Given the description of an element on the screen output the (x, y) to click on. 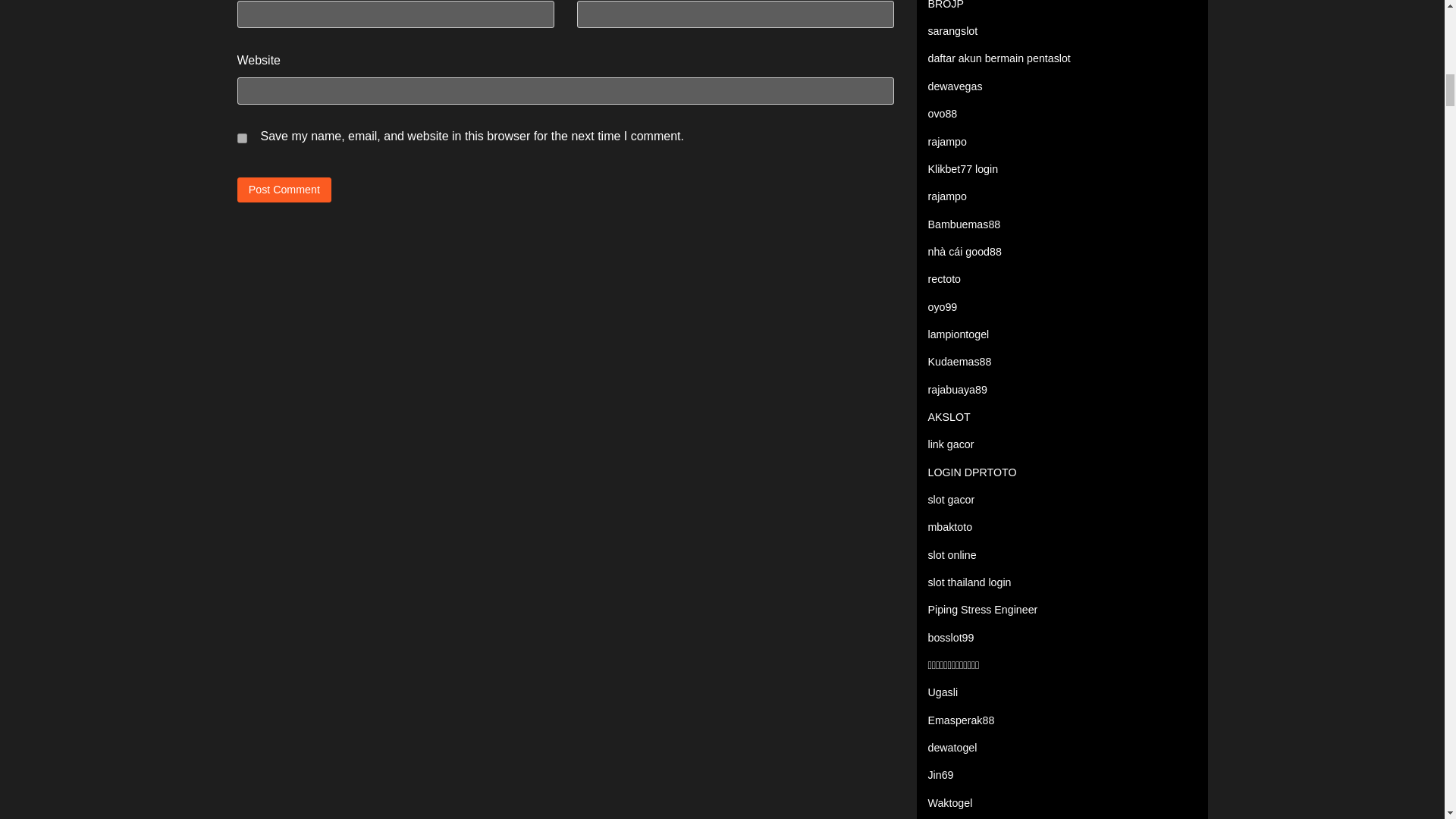
Post Comment (283, 189)
Post Comment (283, 189)
yes (240, 138)
